Given the description of an element on the screen output the (x, y) to click on. 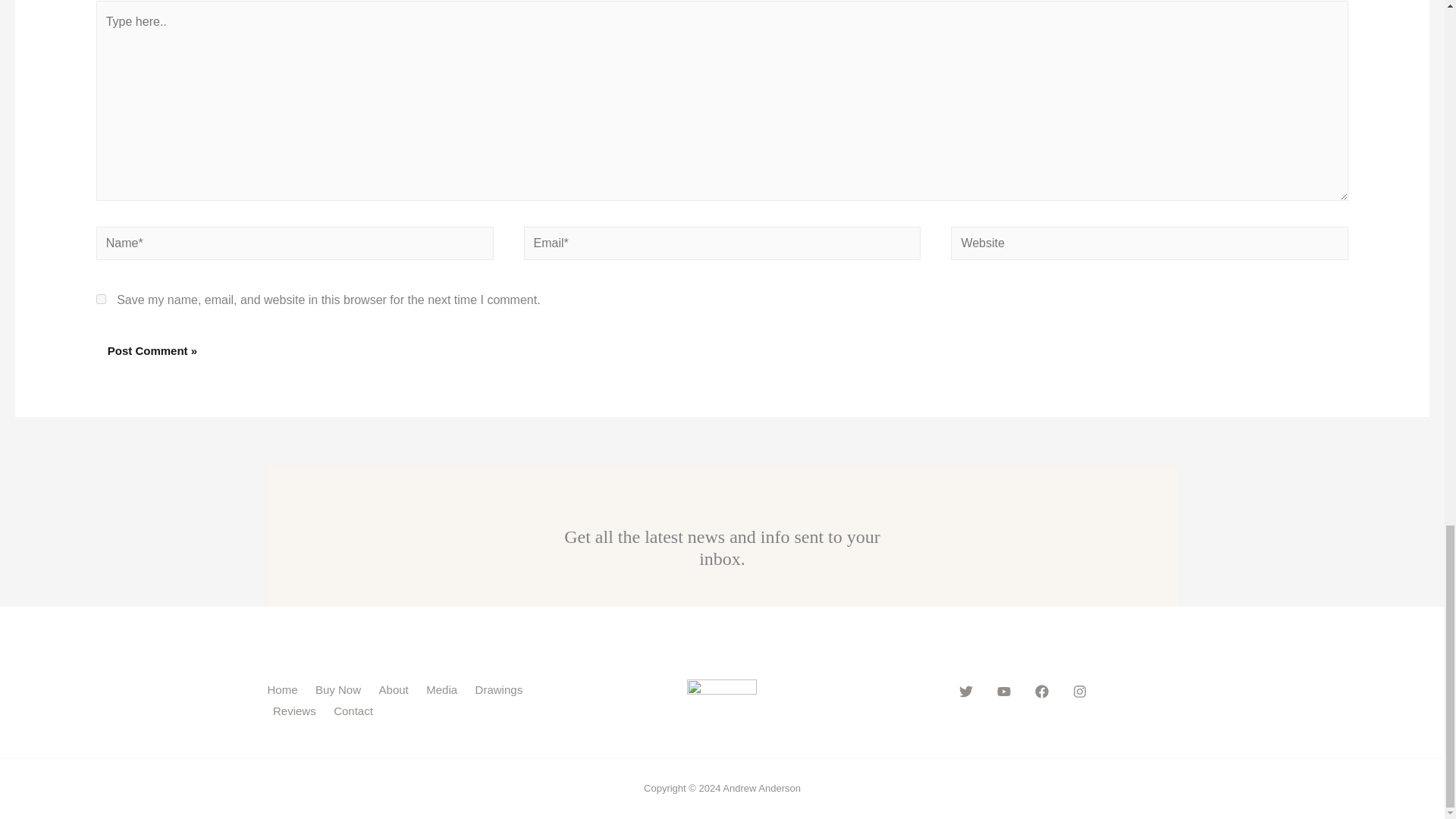
Reviews (296, 711)
Media (444, 690)
Contact (357, 711)
Buy Now (342, 690)
yes (101, 298)
Get all the latest news and info sent to your inbox. (722, 547)
Home (287, 690)
About (396, 690)
Drawings (501, 690)
